Given the description of an element on the screen output the (x, y) to click on. 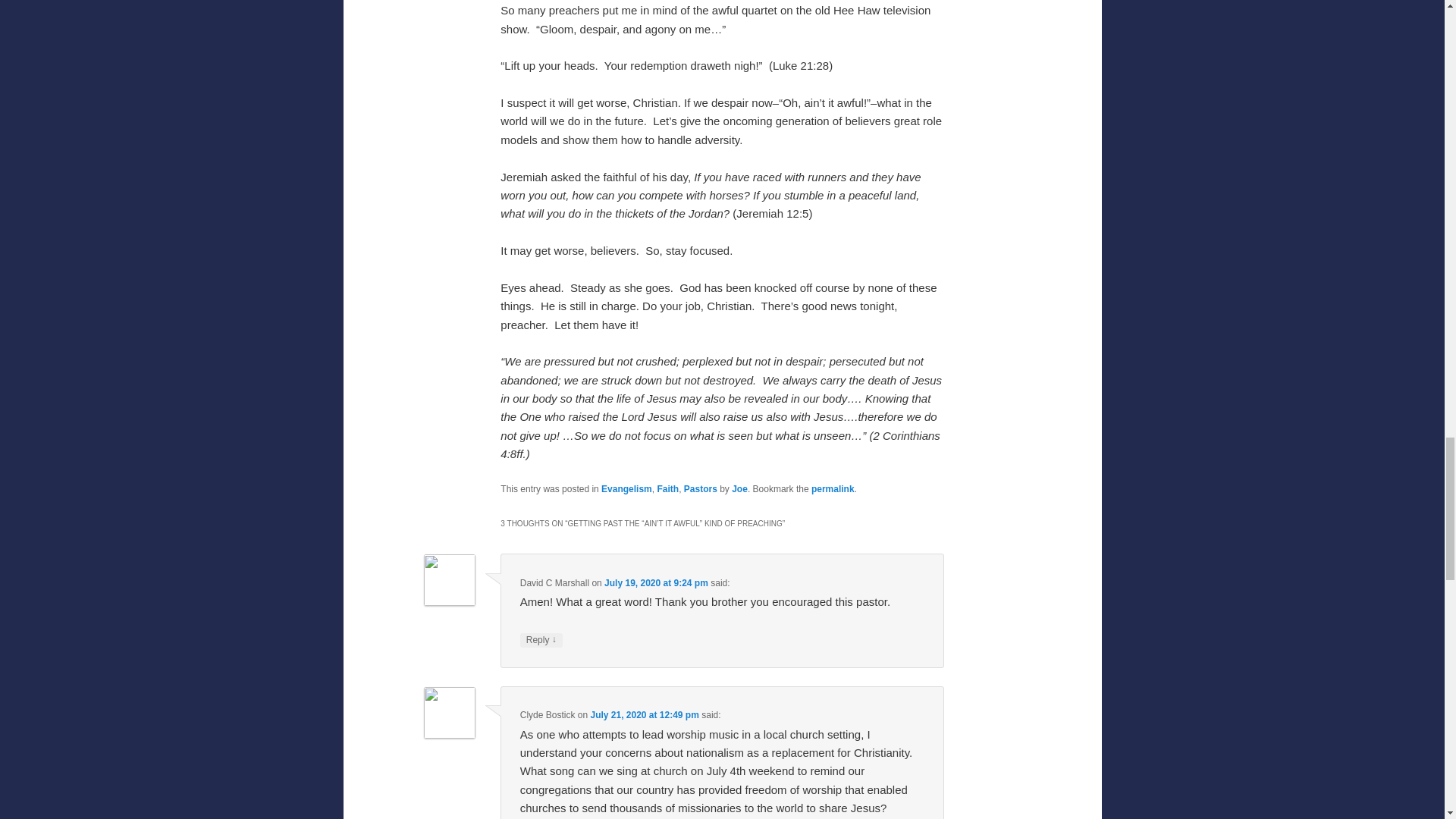
Joe (740, 489)
Pastors (700, 489)
July 19, 2020 at 9:24 pm (655, 583)
Faith (667, 489)
Evangelism (626, 489)
July 21, 2020 at 12:49 pm (643, 715)
permalink (832, 489)
